Given the description of an element on the screen output the (x, y) to click on. 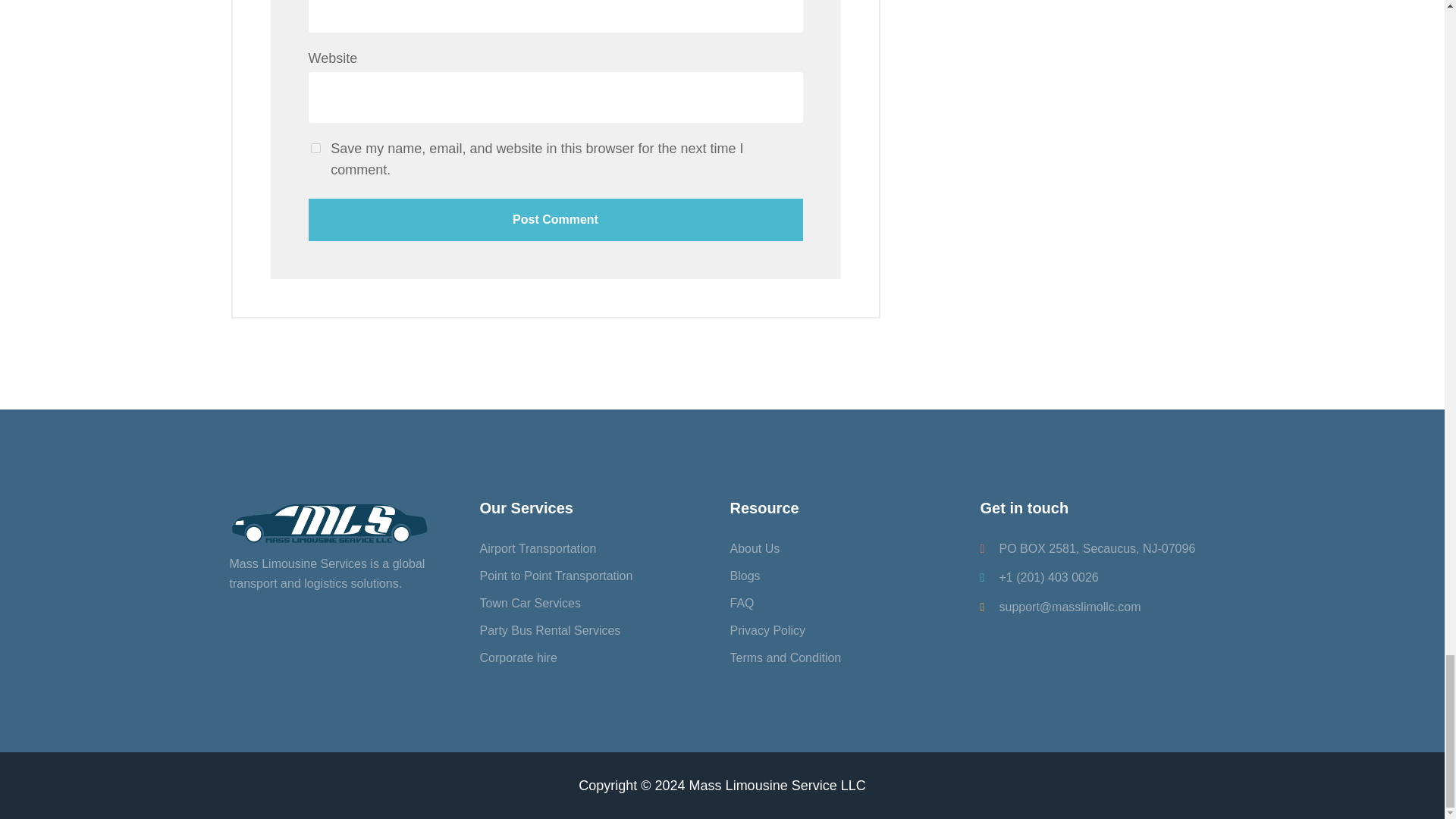
Post Comment (554, 219)
yes (315, 148)
Post Comment (554, 219)
